Given the description of an element on the screen output the (x, y) to click on. 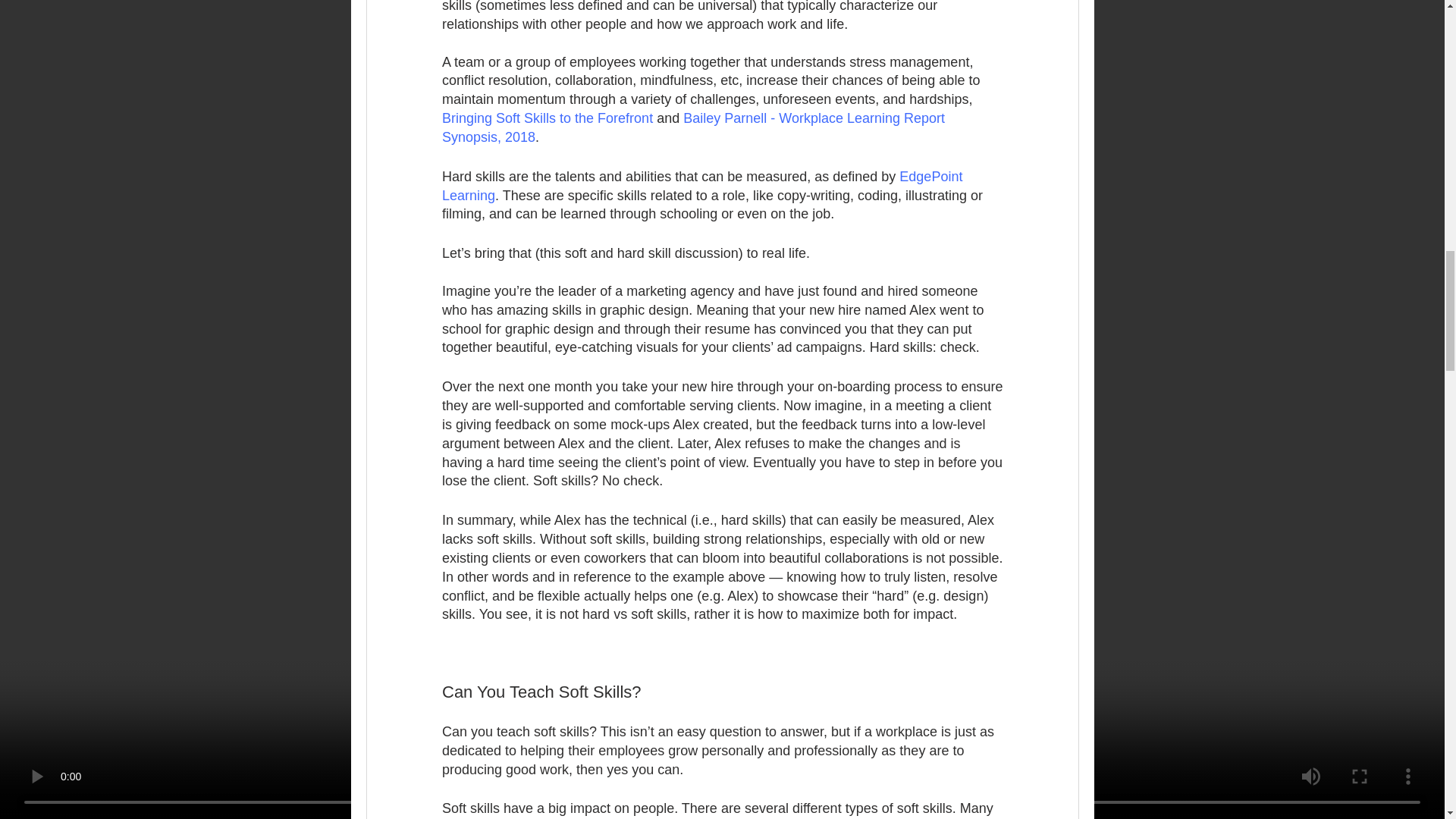
Bailey Parnell - Workplace Learning Report Synopsis, 2018 (694, 127)
EdgePoint Learning (703, 185)
Bringing Soft Skills to the Forefront (546, 118)
